Given the description of an element on the screen output the (x, y) to click on. 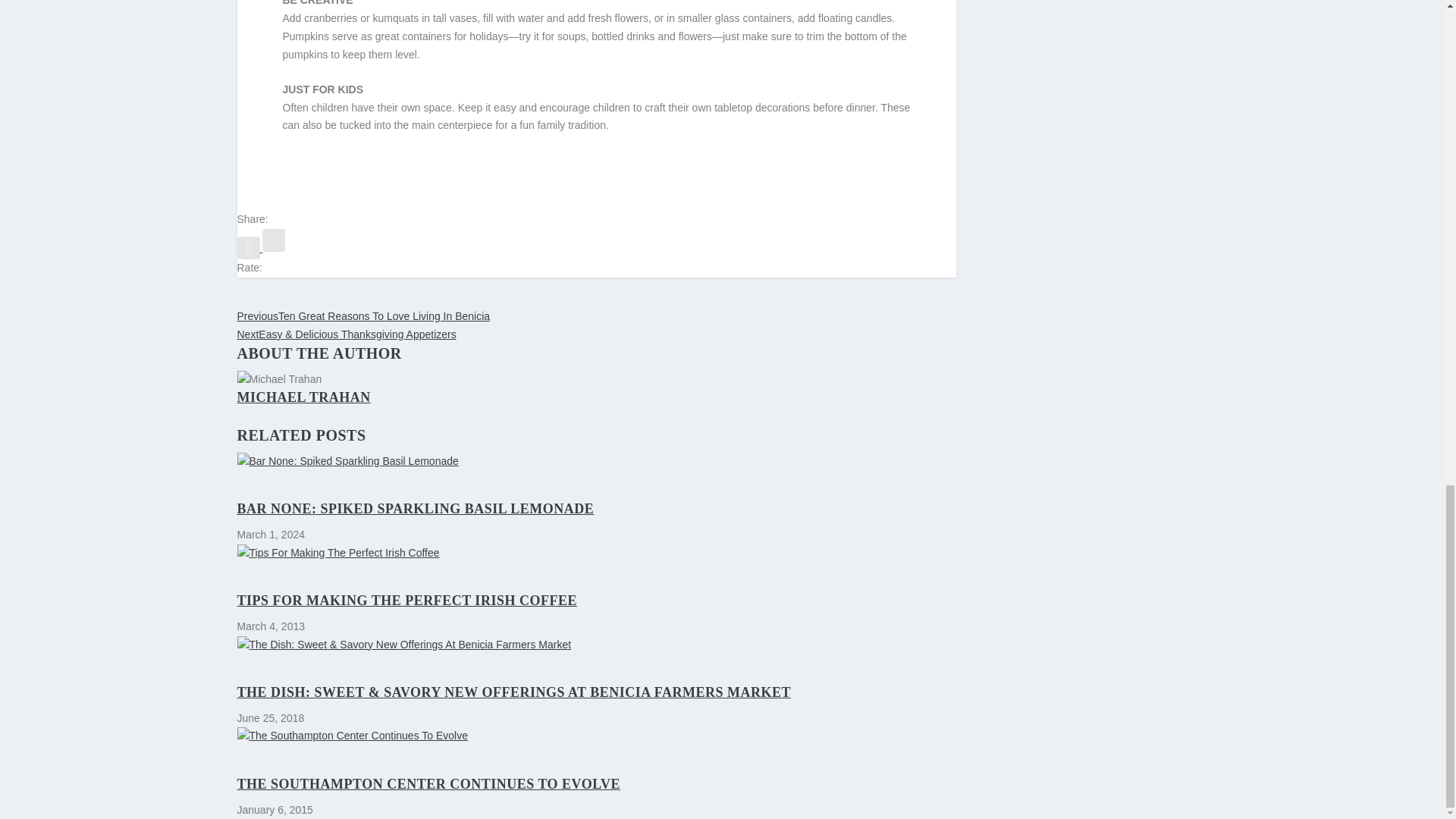
PreviousTen Great Reasons To Love Living In Benicia (362, 316)
MICHAEL TRAHAN (302, 396)
THE SOUTHAMPTON CENTER CONTINUES TO EVOLVE (427, 783)
BAR NONE: SPIKED SPARKLING BASIL LEMONADE (414, 508)
View all posts by Michael Trahan (302, 396)
TIPS FOR MAKING THE PERFECT IRISH COFFEE (405, 600)
The Southampton Center Continues To Evolve (595, 736)
Bar None: Spiked Sparkling Basil Lemonade (595, 461)
Tips For Making The Perfect Irish Coffee (595, 553)
